Given the description of an element on the screen output the (x, y) to click on. 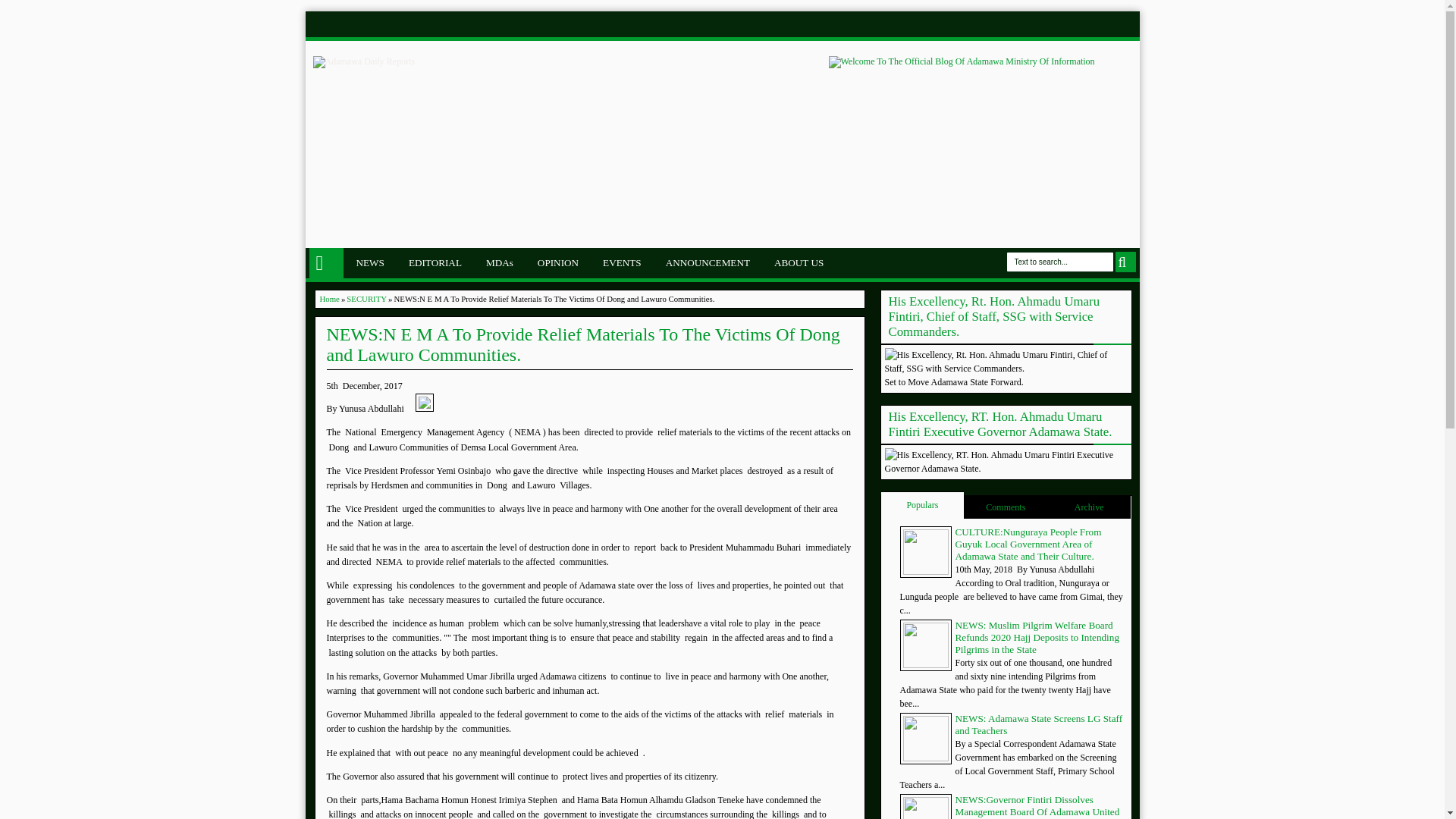
Linkedin (1039, 24)
Text to search... (1060, 261)
Twitter (997, 24)
Pinterest (1061, 24)
Facebook (976, 24)
Search (1125, 261)
EDITORIAL (435, 263)
Vimeo (1103, 24)
Dribble (1083, 24)
Pinterest (1061, 24)
Dribble (1083, 24)
RSS (1125, 24)
Linkedin (1039, 24)
twitter (997, 24)
RSS (1125, 24)
